Given the description of an element on the screen output the (x, y) to click on. 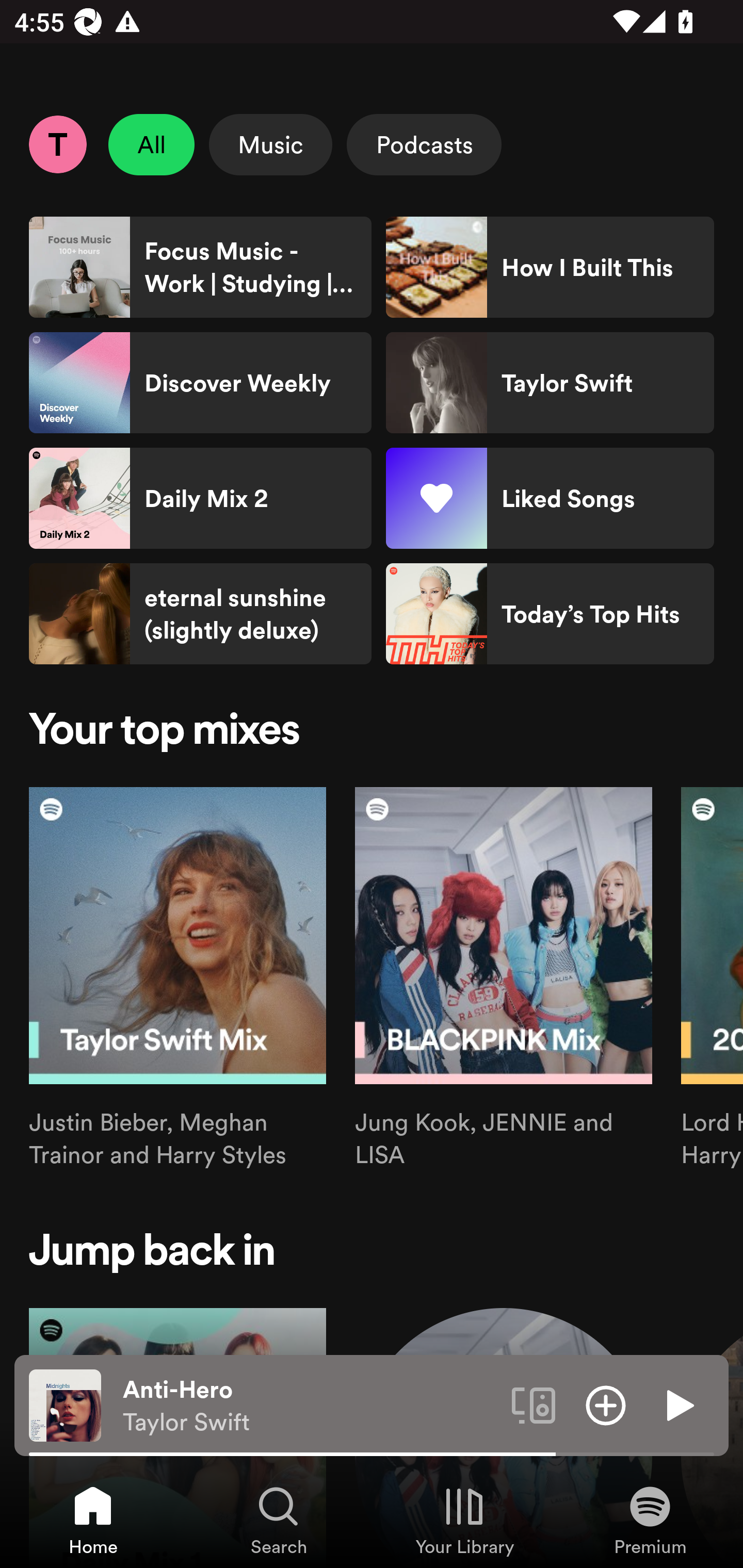
Profile (57, 144)
All Unselect All (151, 144)
Music Select Music (270, 144)
Podcasts Select Podcasts (423, 144)
How I Built This  Shortcut How I Built This  (549, 267)
Discover Weekly Shortcut Discover Weekly (199, 382)
Taylor Swift Shortcut Taylor Swift (549, 382)
Daily Mix 2 Shortcut Daily Mix 2 (199, 498)
Liked Songs Shortcut Liked Songs (549, 498)
Today’s Top Hits Shortcut Today’s Top Hits (549, 613)
Anti-Hero Taylor Swift (309, 1405)
The cover art of the currently playing track (64, 1404)
Connect to a device. Opens the devices menu (533, 1404)
Add item (605, 1404)
Play (677, 1404)
Home, Tab 1 of 4 Home Home (92, 1519)
Search, Tab 2 of 4 Search Search (278, 1519)
Your Library, Tab 3 of 4 Your Library Your Library (464, 1519)
Premium, Tab 4 of 4 Premium Premium (650, 1519)
